Given the description of an element on the screen output the (x, y) to click on. 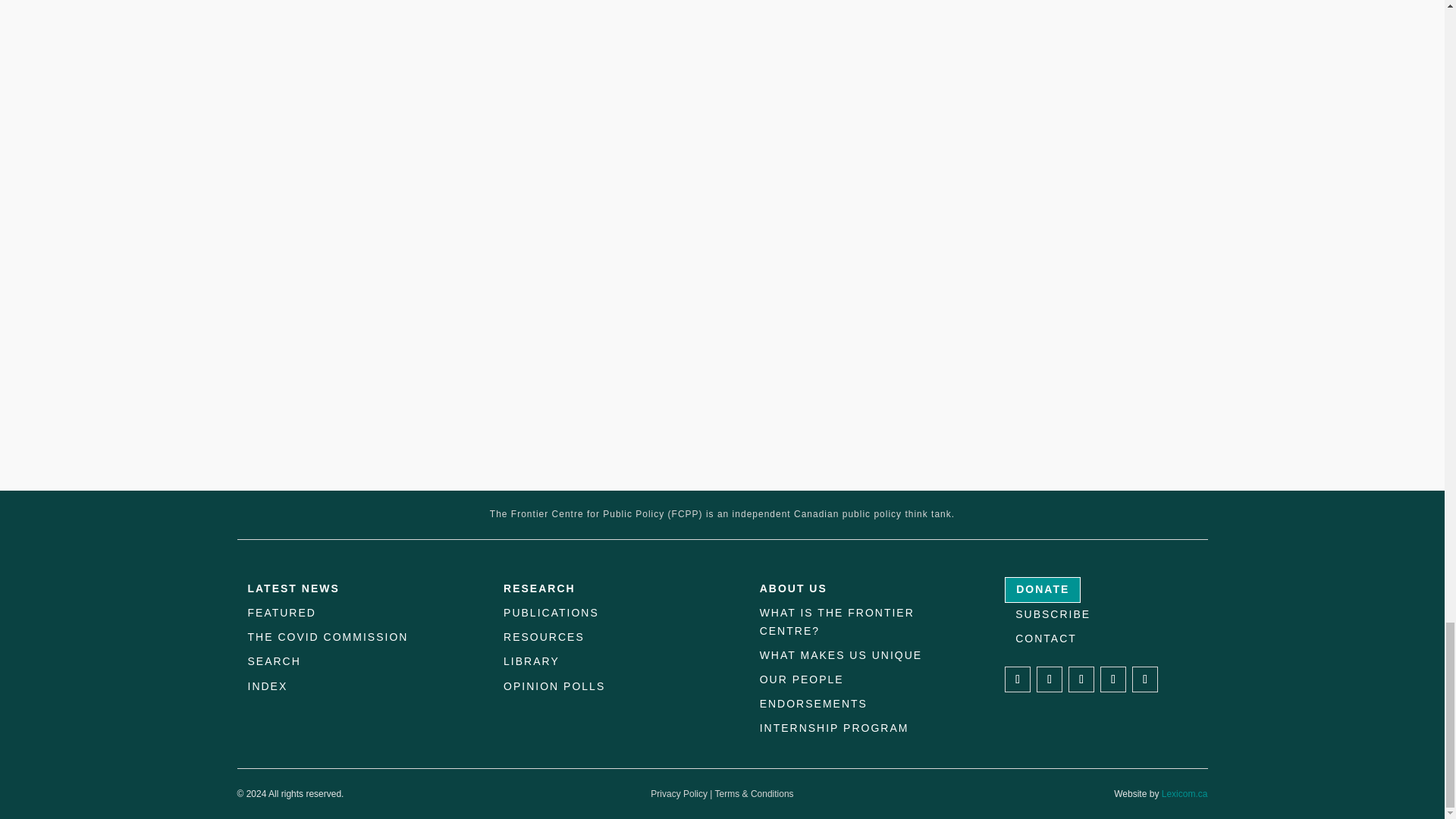
Follow on X (1049, 679)
Follow on LinkedIn (1081, 679)
Lexicom.ca (1184, 793)
Follow on SoundCloud (1112, 679)
Follow on Youtube (1144, 679)
Follow on Facebook (1017, 679)
